Given the description of an element on the screen output the (x, y) to click on. 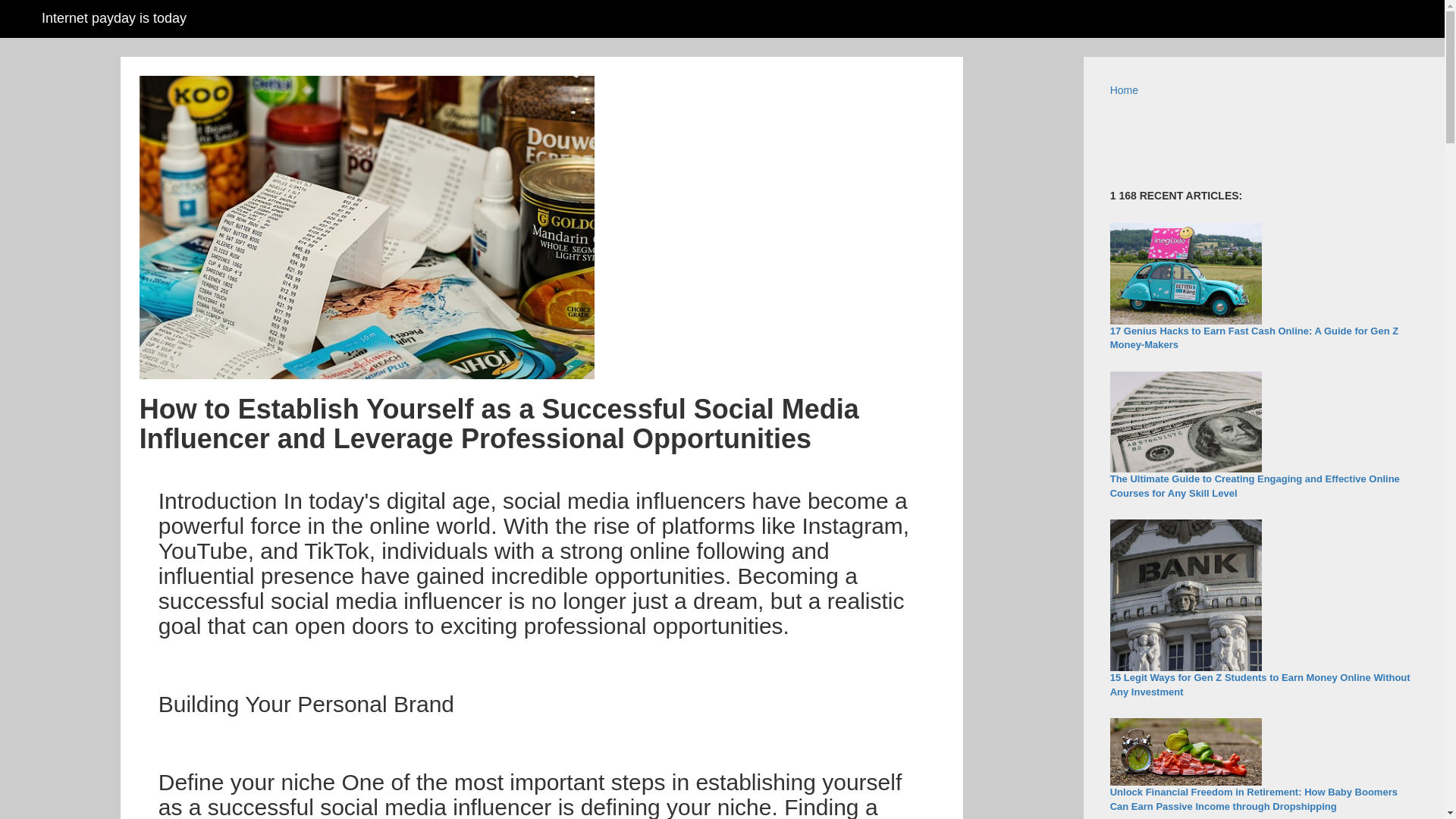
Home (1123, 90)
